Given the description of an element on the screen output the (x, y) to click on. 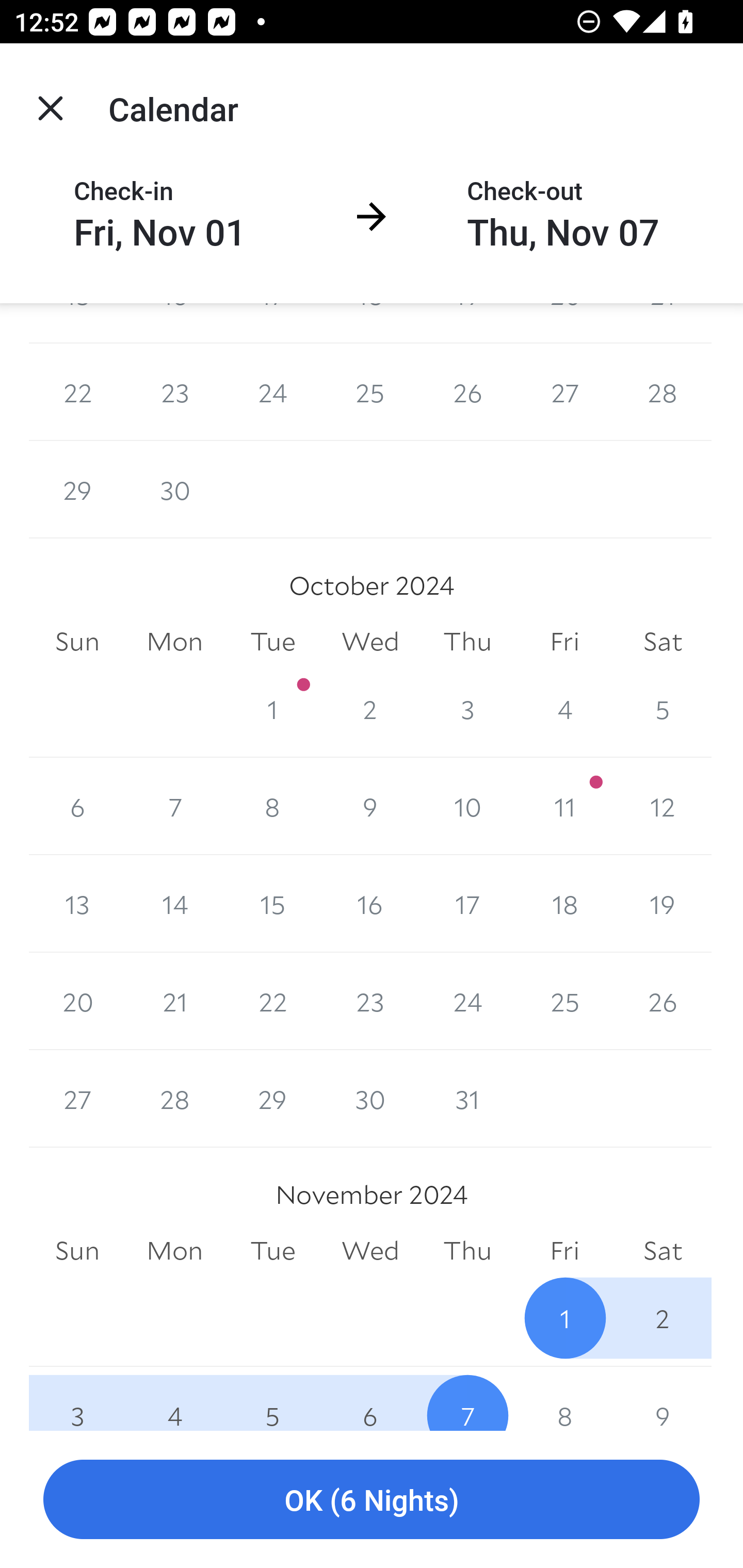
22 22 September 2024 (77, 391)
23 23 September 2024 (174, 391)
24 24 September 2024 (272, 391)
25 25 September 2024 (370, 391)
26 26 September 2024 (467, 391)
27 27 September 2024 (564, 391)
28 28 September 2024 (662, 391)
29 29 September 2024 (77, 488)
30 30 September 2024 (174, 488)
Sun (77, 641)
Mon (174, 641)
Tue (272, 641)
Wed (370, 641)
Thu (467, 641)
Fri (564, 641)
Sat (662, 641)
1 1 October 2024 (272, 708)
2 2 October 2024 (370, 708)
3 3 October 2024 (467, 708)
4 4 October 2024 (564, 708)
5 5 October 2024 (662, 708)
6 6 October 2024 (77, 805)
7 7 October 2024 (174, 805)
8 8 October 2024 (272, 805)
9 9 October 2024 (370, 805)
10 10 October 2024 (467, 805)
11 11 October 2024 (564, 805)
12 12 October 2024 (662, 805)
13 13 October 2024 (77, 903)
14 14 October 2024 (174, 903)
15 15 October 2024 (272, 903)
16 16 October 2024 (370, 903)
17 17 October 2024 (467, 903)
18 18 October 2024 (564, 903)
19 19 October 2024 (662, 903)
20 20 October 2024 (77, 1001)
21 21 October 2024 (174, 1001)
22 22 October 2024 (272, 1001)
23 23 October 2024 (370, 1001)
24 24 October 2024 (467, 1001)
25 25 October 2024 (564, 1001)
26 26 October 2024 (662, 1001)
27 27 October 2024 (77, 1098)
28 28 October 2024 (174, 1098)
29 29 October 2024 (272, 1098)
30 30 October 2024 (370, 1098)
31 31 October 2024 (467, 1098)
Sun (77, 1251)
Mon (174, 1251)
Tue (272, 1251)
Wed (370, 1251)
Thu (467, 1251)
Fri (564, 1251)
Sat (662, 1251)
1 1 November 2024 (564, 1318)
2 2 November 2024 (662, 1318)
3 3 November 2024 (77, 1398)
4 4 November 2024 (174, 1398)
5 5 November 2024 (272, 1398)
6 6 November 2024 (370, 1398)
7 7 November 2024 (467, 1398)
8 8 November 2024 (564, 1398)
9 9 November 2024 (662, 1398)
OK (6 Nights) (371, 1499)
